Given the description of an element on the screen output the (x, y) to click on. 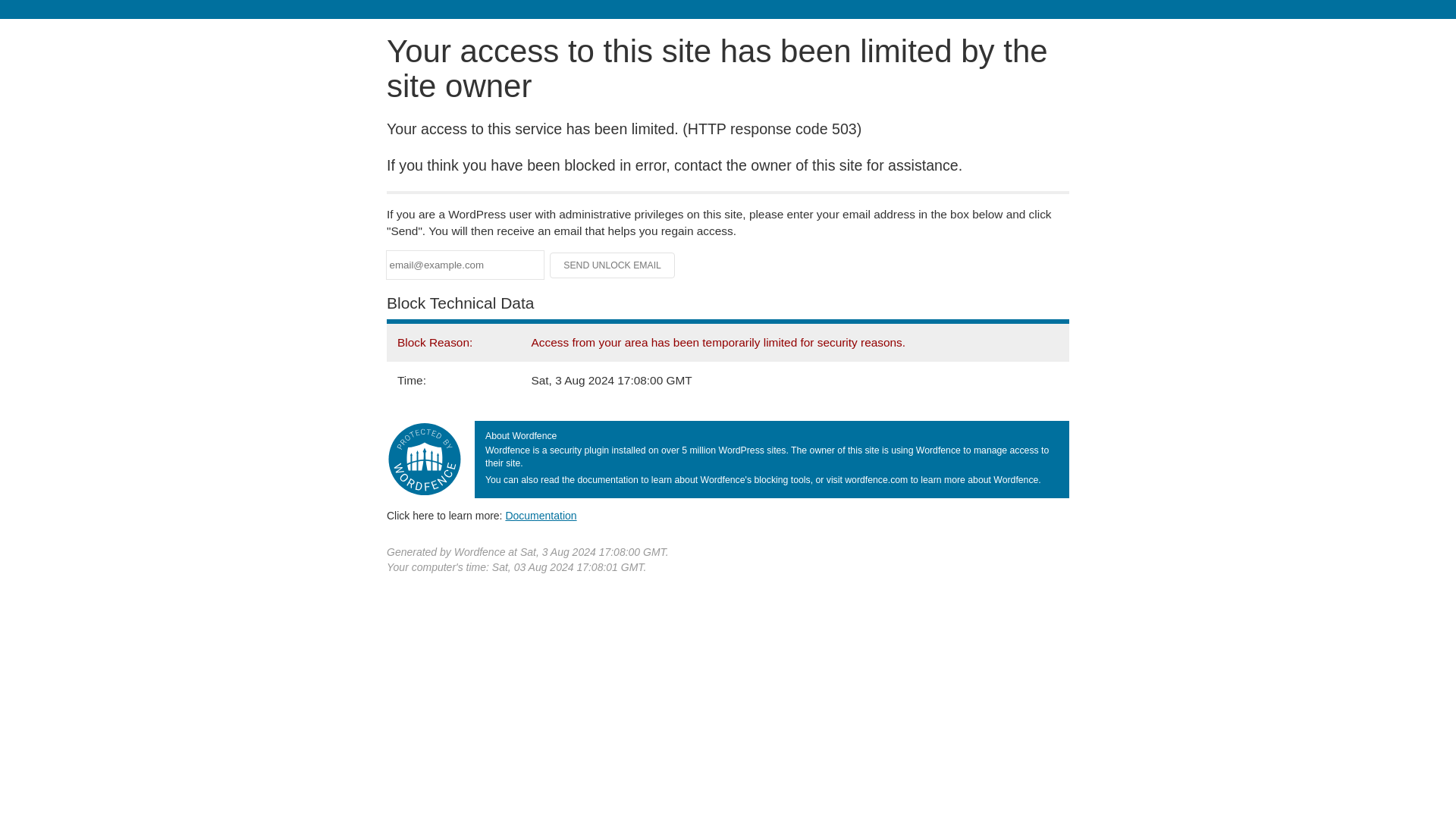
Send Unlock Email (612, 265)
Documentation (540, 515)
Send Unlock Email (612, 265)
